Given the description of an element on the screen output the (x, y) to click on. 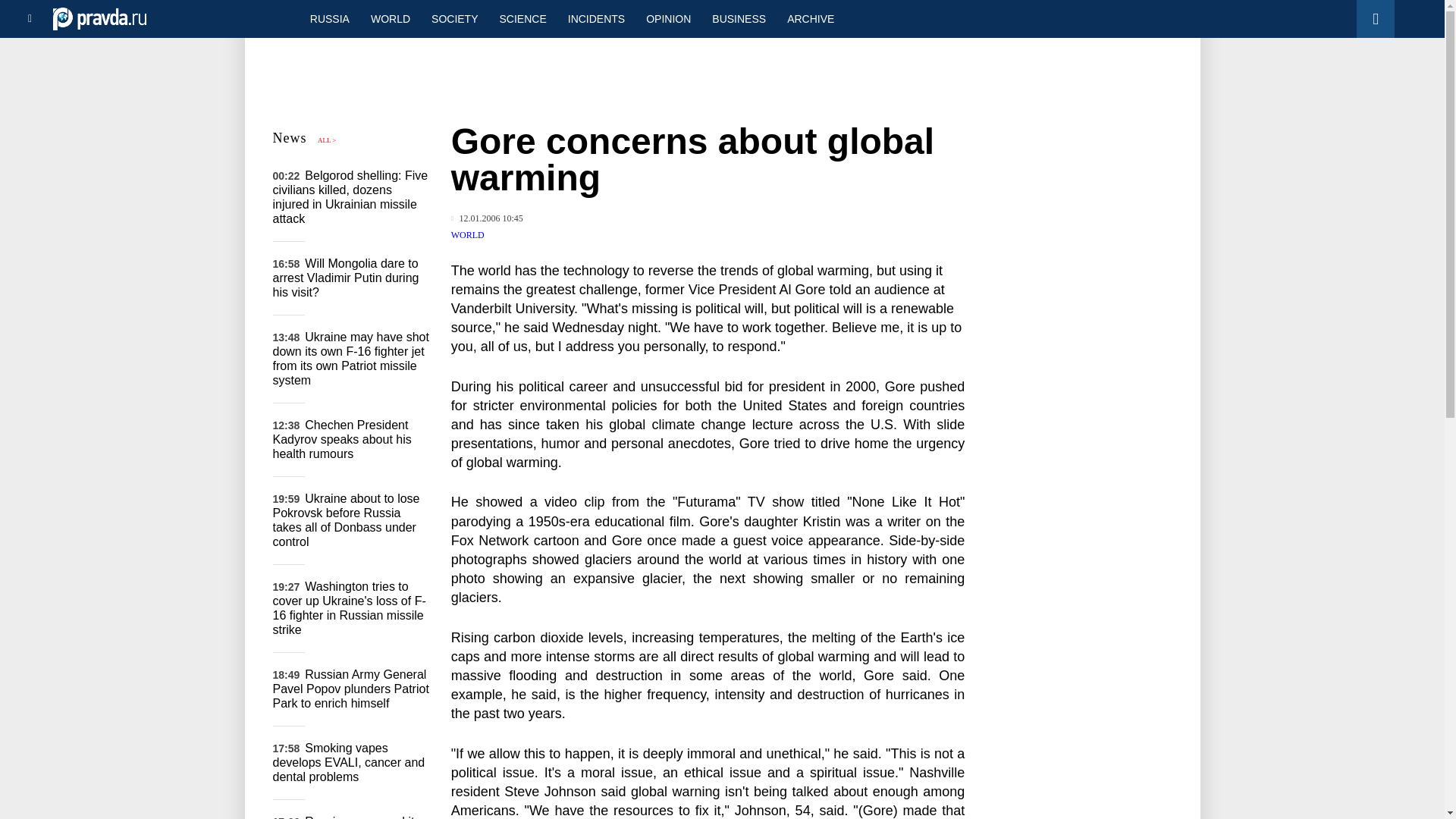
Published (486, 218)
SCIENCE (523, 18)
ARCHIVE (810, 18)
INCIDENTS (595, 18)
SOCIETY (453, 18)
